Given the description of an element on the screen output the (x, y) to click on. 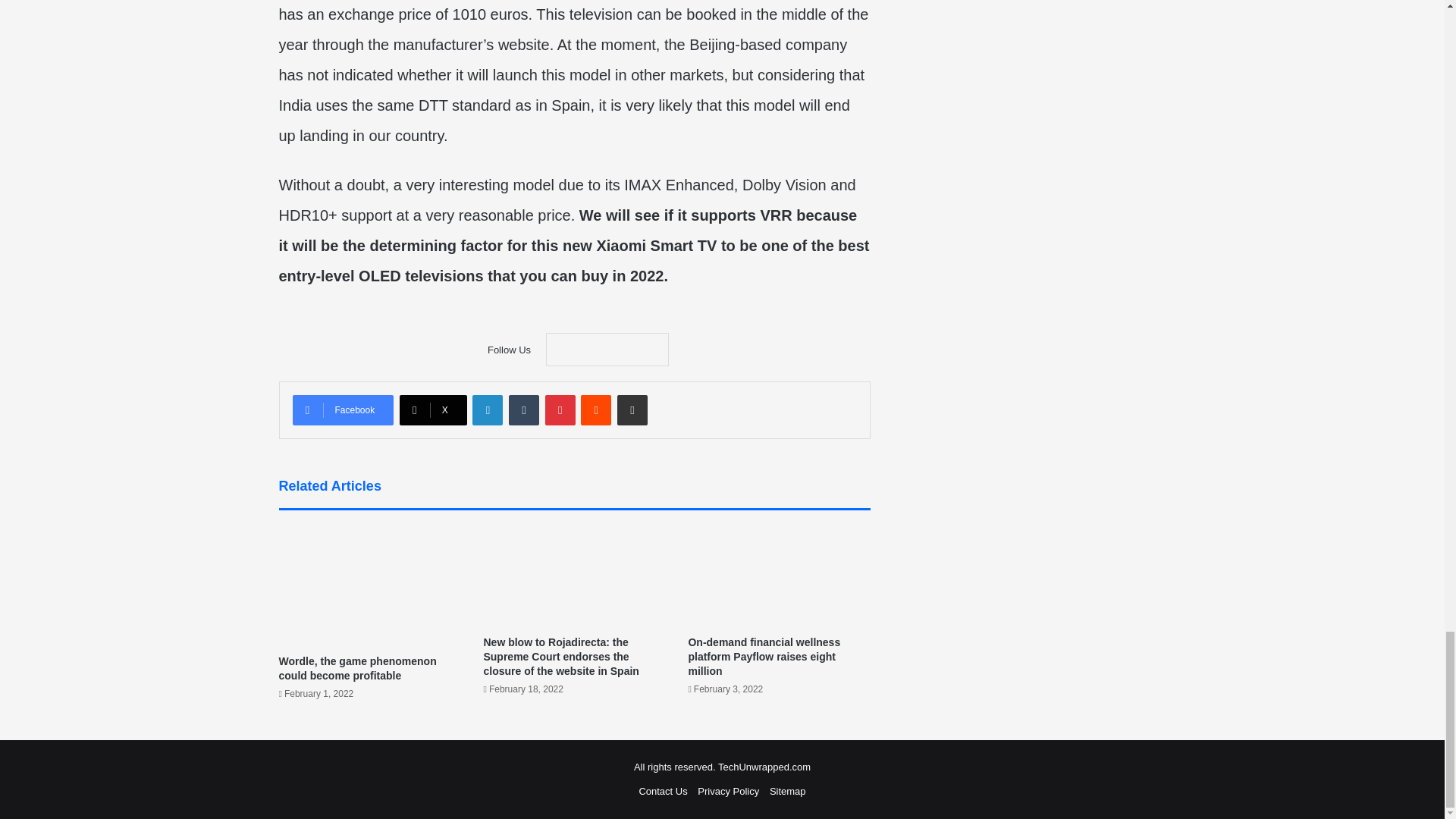
LinkedIn (486, 409)
Wordle, the game phenomenon could become profitable (357, 668)
Pinterest (559, 409)
Google News (607, 349)
X (432, 409)
Facebook (343, 409)
Tumblr (523, 409)
Share via Email (632, 409)
Sitemap (788, 790)
LinkedIn (486, 409)
Privacy Policy (727, 790)
Contact Us (663, 790)
Pinterest (559, 409)
